Given the description of an element on the screen output the (x, y) to click on. 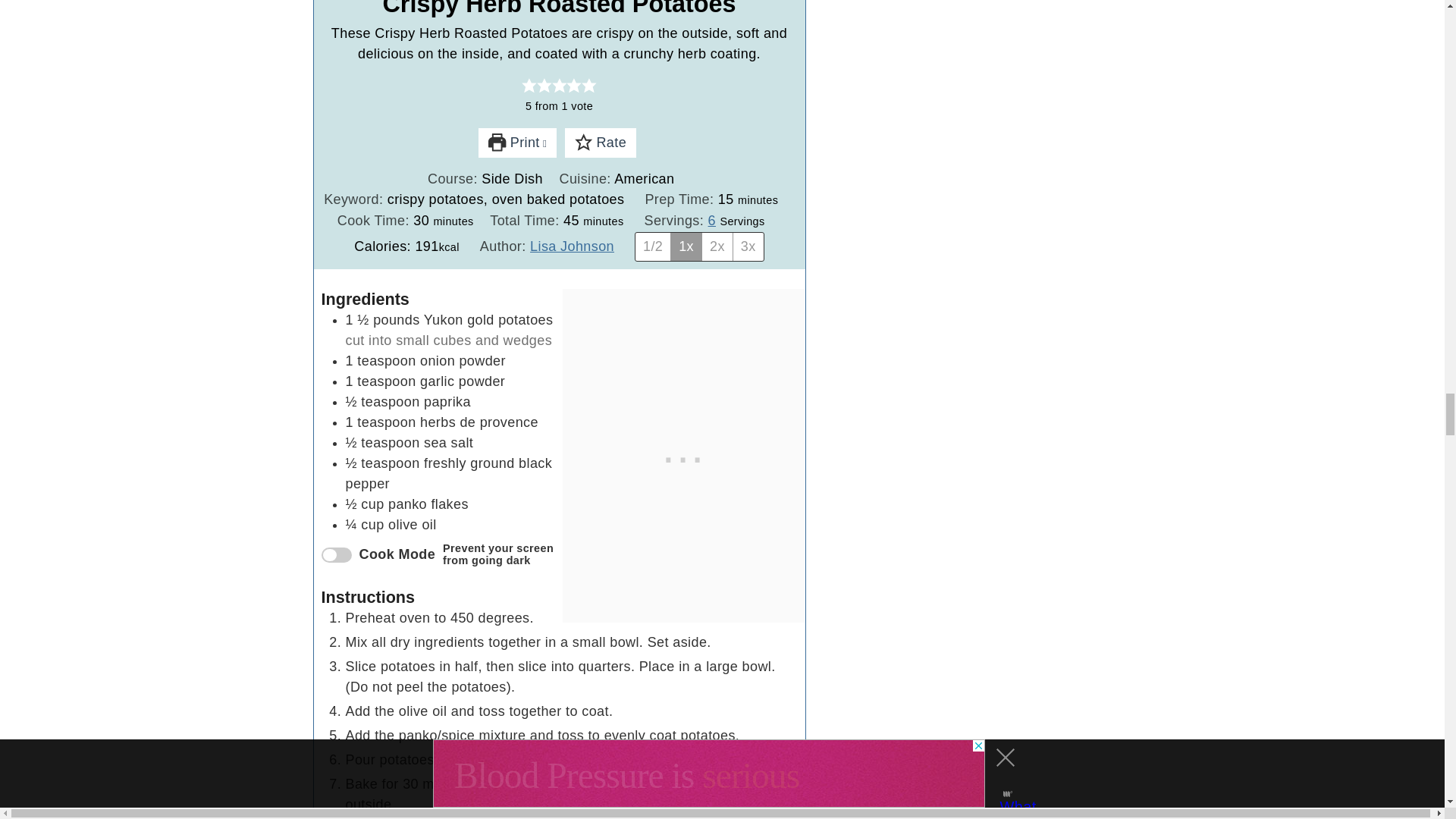
Rate (600, 142)
Print (517, 142)
Lisa Johnson (571, 246)
